Given the description of an element on the screen output the (x, y) to click on. 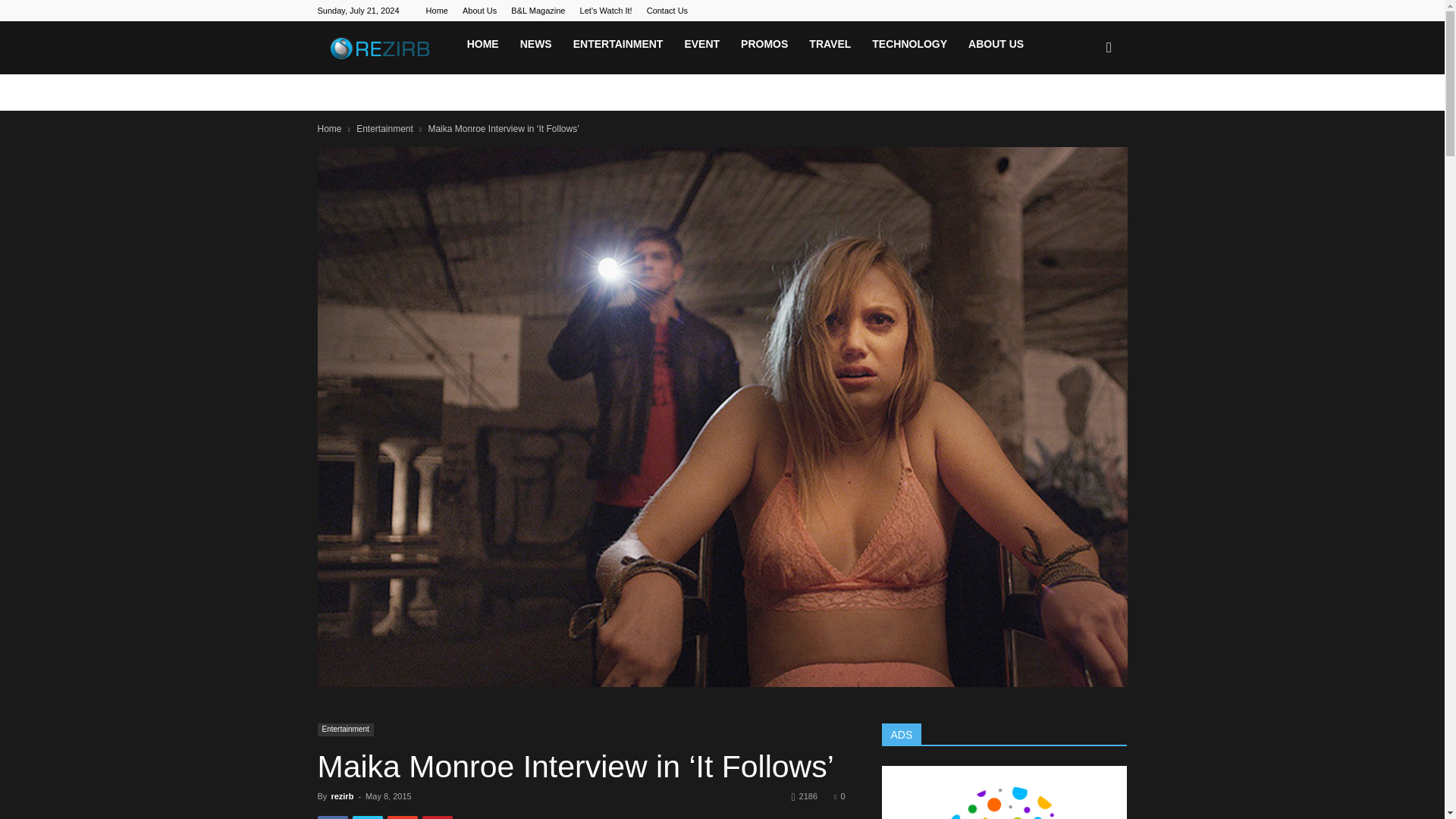
Entertainment (384, 128)
About Us (479, 10)
View all posts in Entertainment (384, 128)
Search (1083, 117)
TECHNOLOGY (909, 43)
Facebook (1040, 10)
ABOUT US (995, 43)
Entertainment (344, 729)
Home (328, 128)
ReZirb (386, 47)
NEWS (535, 43)
TRAVEL (829, 43)
Instagram (1065, 10)
Contact Us (666, 10)
ENTERTAINMENT (618, 43)
